Given the description of an element on the screen output the (x, y) to click on. 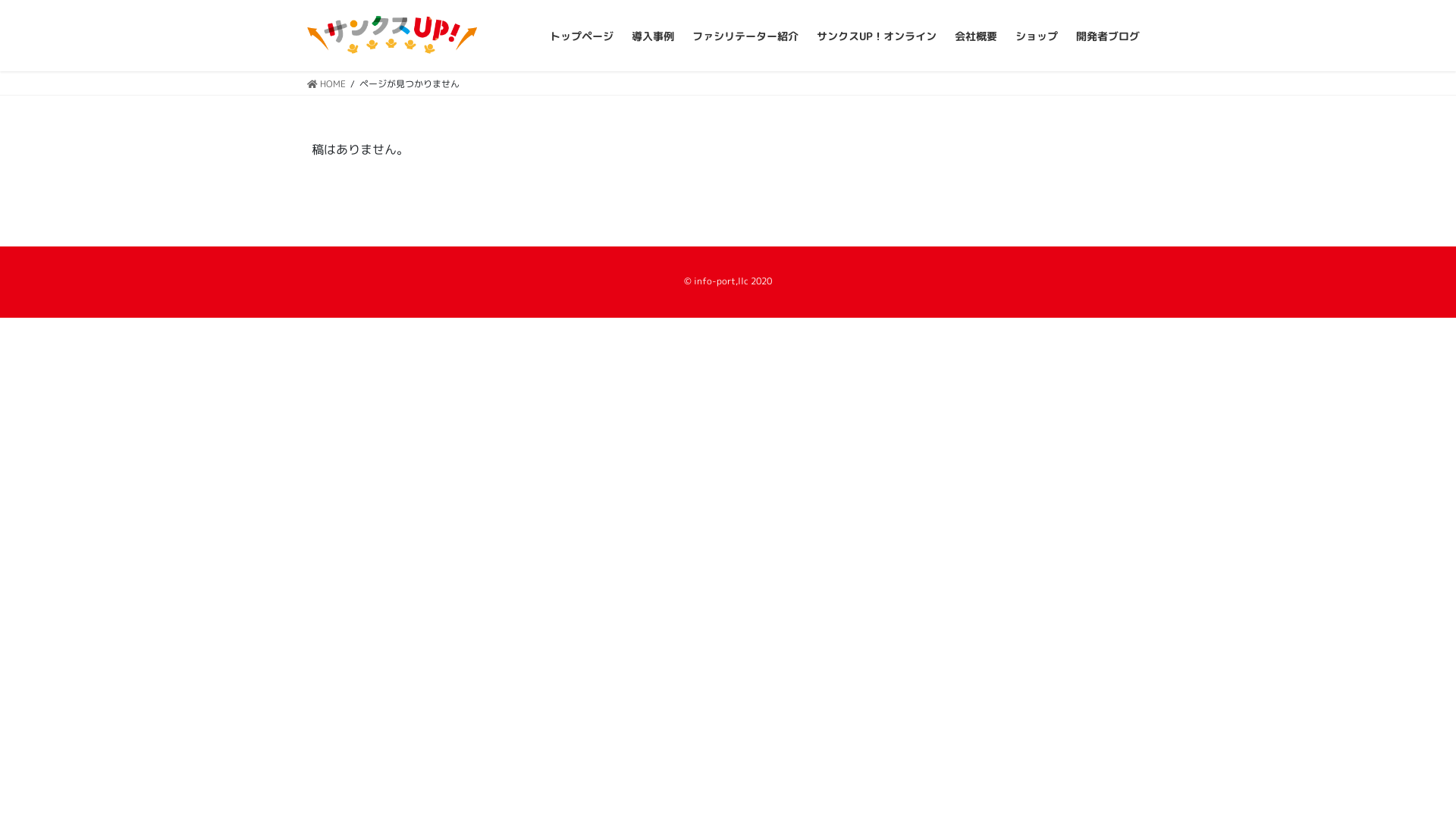
HOME Element type: text (326, 83)
